Given the description of an element on the screen output the (x, y) to click on. 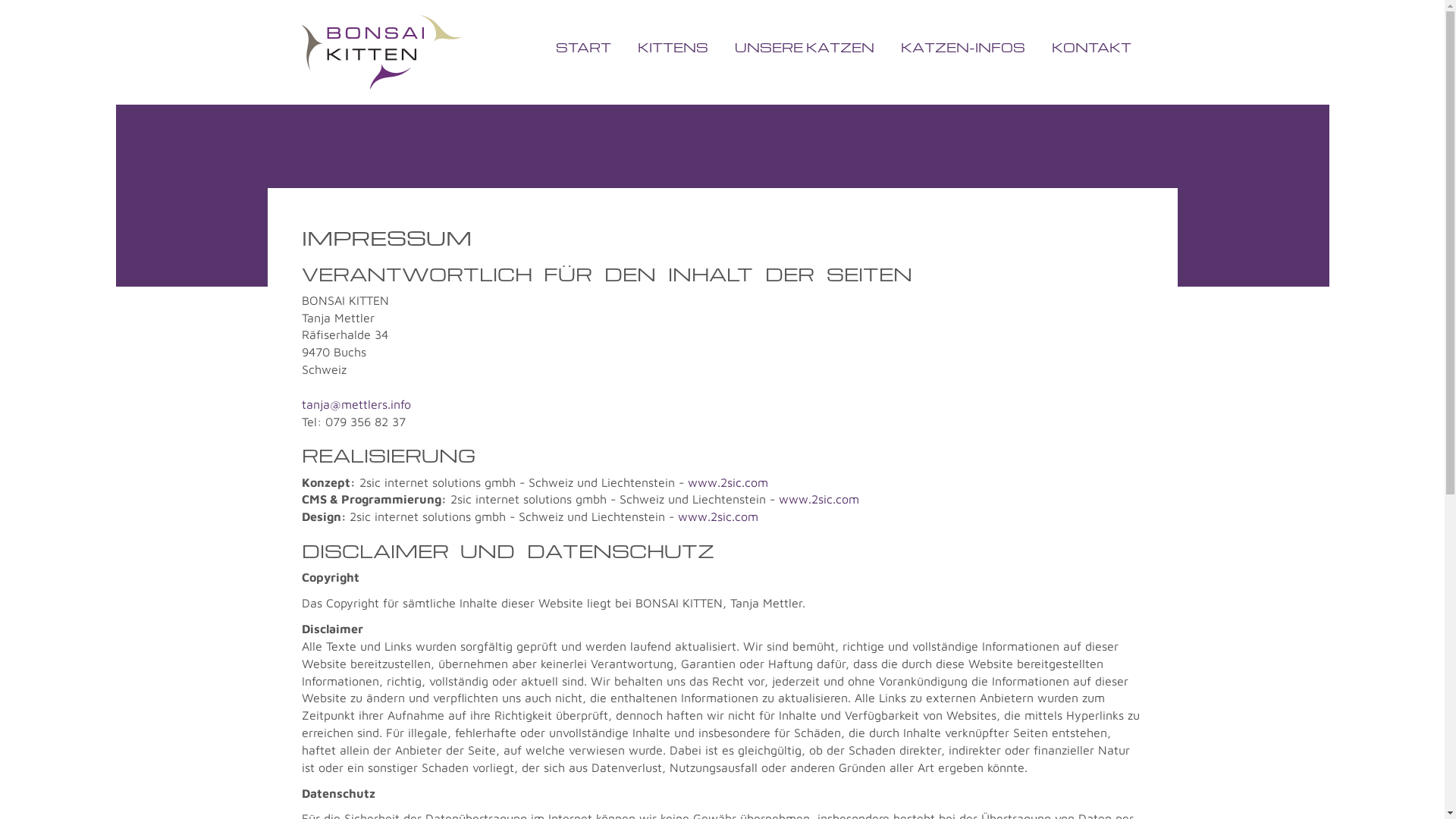
KITTENS Element type: text (672, 47)
www.2sic.com Element type: text (717, 516)
KATZEN-INFOS Element type: text (961, 47)
Bonsai Kitten Element type: hover (381, 52)
START Element type: text (583, 47)
UNSERE KATZEN Element type: text (804, 47)
www.2sic.com Element type: text (818, 498)
tanja@mettlers.info Element type: text (356, 404)
www.2sic.com Element type: text (727, 482)
KONTAKT Element type: text (1091, 47)
